Given the description of an element on the screen output the (x, y) to click on. 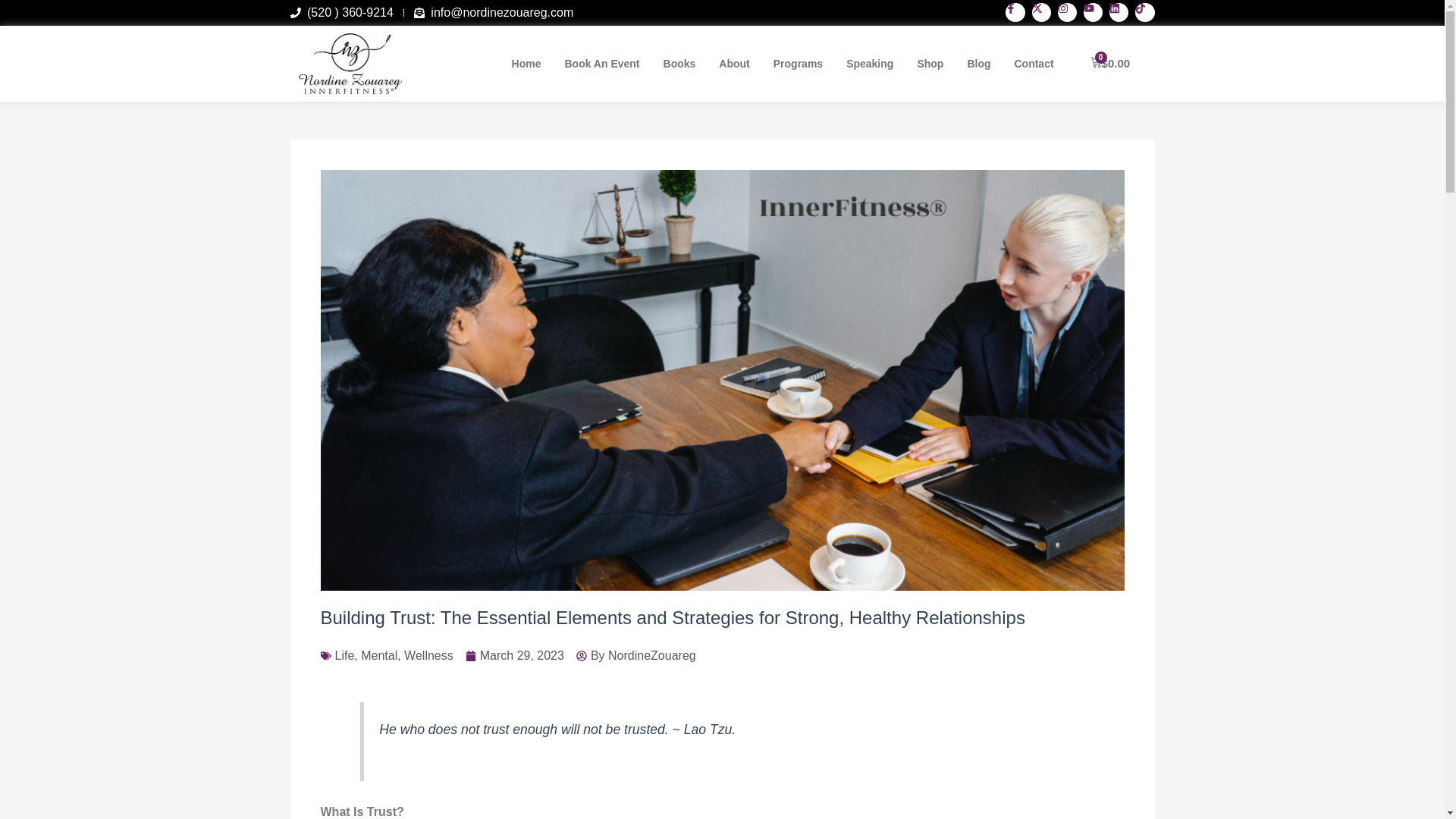
Linkedin (1118, 12)
Facebook-f (1015, 12)
Contact (1033, 63)
Programs (797, 63)
Books (679, 63)
Book An Event (601, 63)
Instagram (1067, 12)
Youtube (1092, 12)
X-twitter (1041, 12)
Speaking (869, 63)
